Given the description of an element on the screen output the (x, y) to click on. 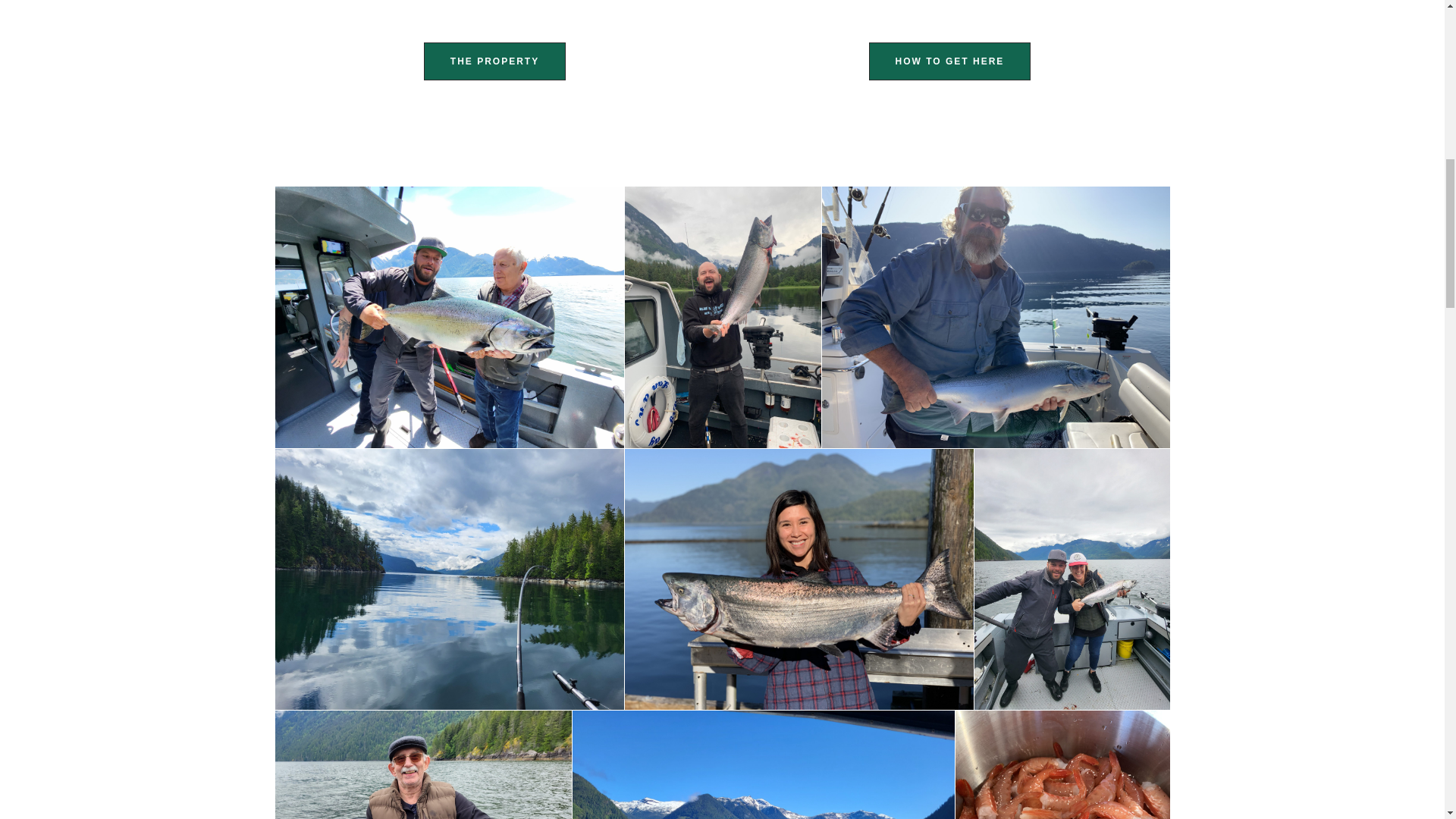
HOW TO GET HERE (949, 61)
THE PROPERTY (494, 61)
